Given the description of an element on the screen output the (x, y) to click on. 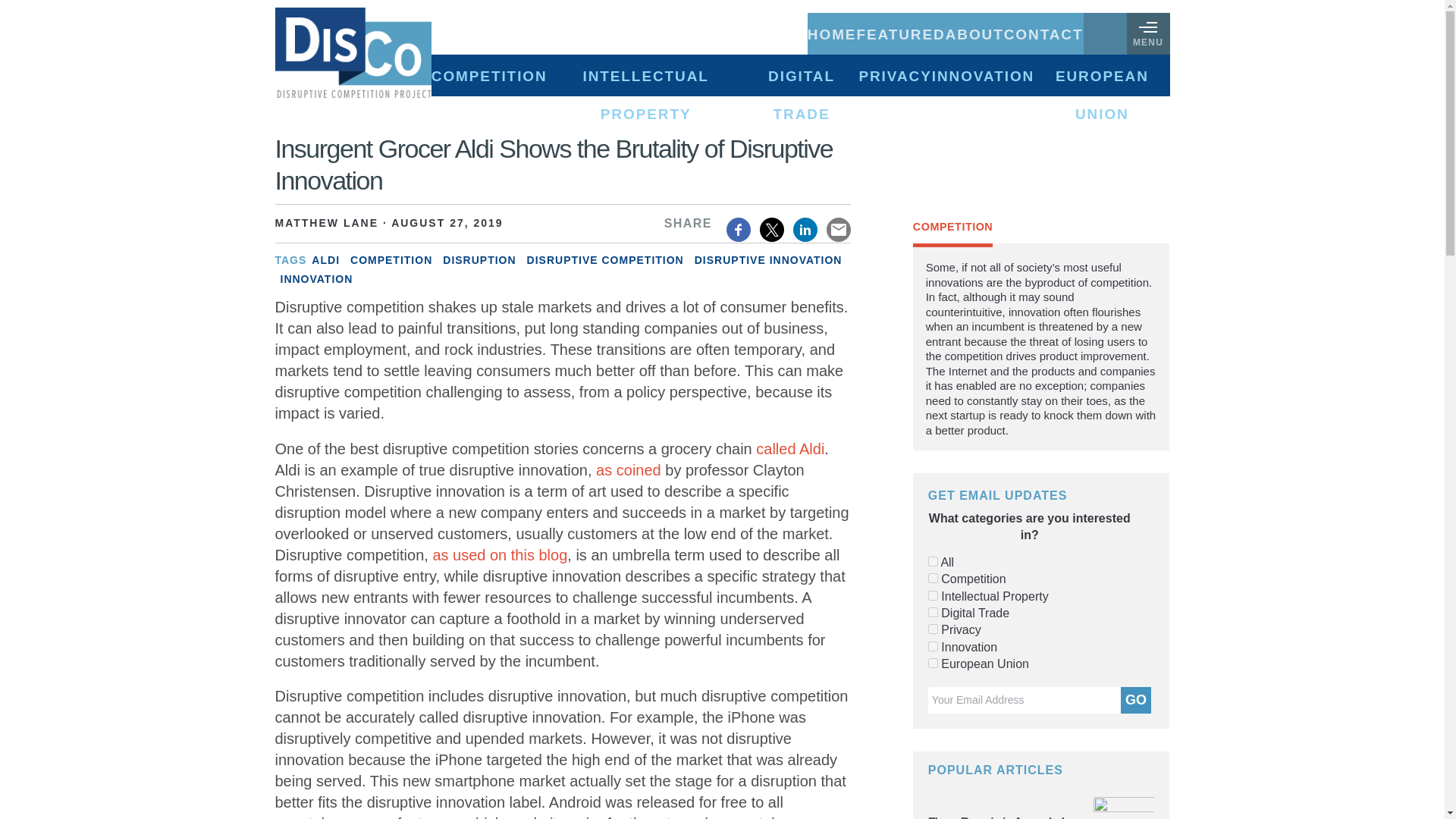
ALDI (325, 260)
PRIVACY (895, 75)
FEATURED (900, 33)
0fe90f44a7 (932, 628)
6a33747426 (932, 646)
Search (29, 11)
dfdd5f7007 (932, 612)
COMPETITION (488, 75)
CONTACT (1043, 33)
